Given the description of an element on the screen output the (x, y) to click on. 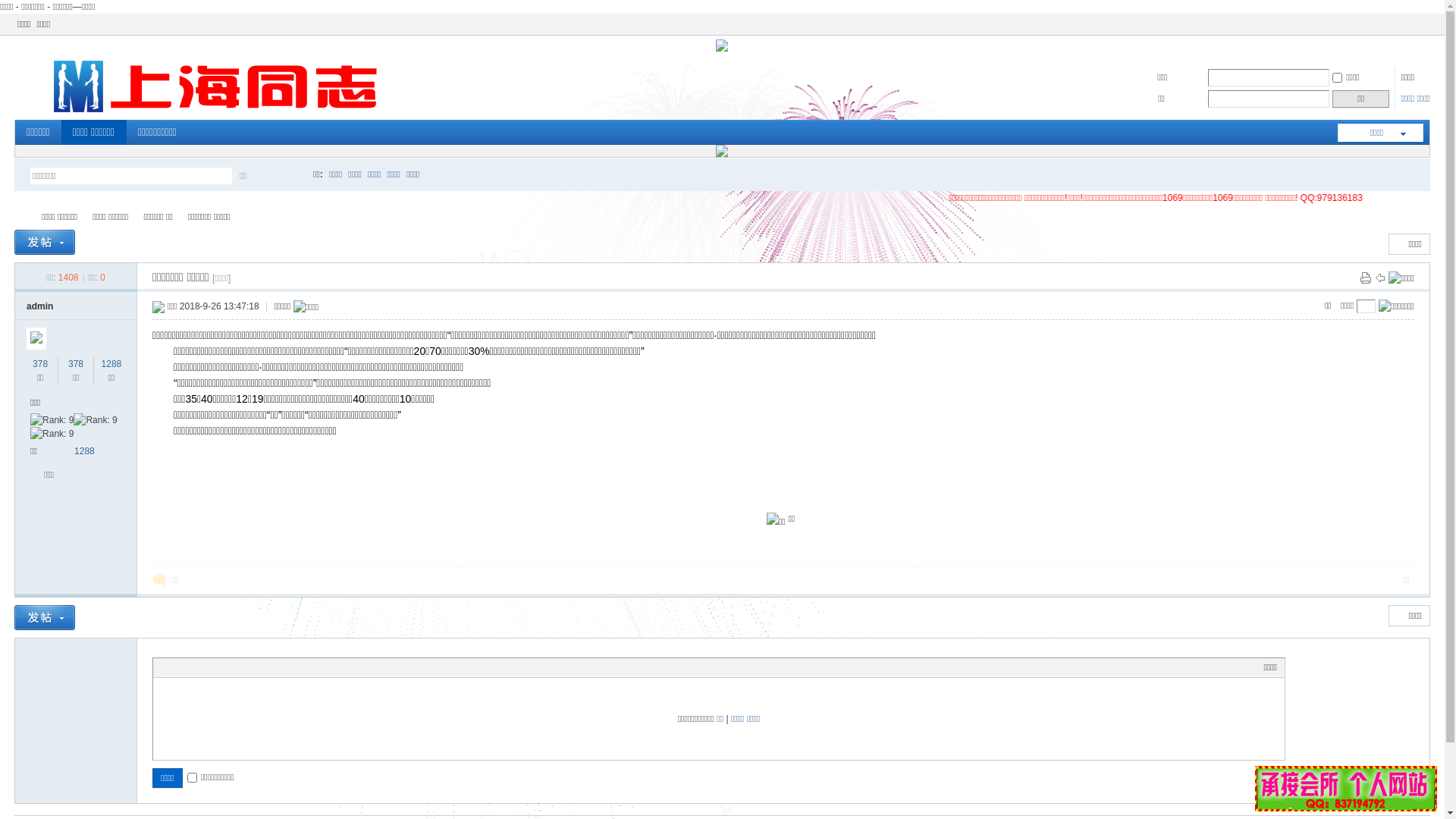
1288 Element type: text (84, 450)
Smilies Element type: text (274, 666)
Code Element type: text (255, 666)
1288 Element type: text (111, 363)
B Element type: text (160, 666)
true Element type: text (289, 175)
admin Element type: text (39, 306)
Quote Element type: text (236, 666)
Link Element type: text (217, 666)
Color Element type: text (179, 666)
378 Element type: text (75, 363)
Image Element type: text (198, 666)
378 Element type: text (39, 363)
